Given the description of an element on the screen output the (x, y) to click on. 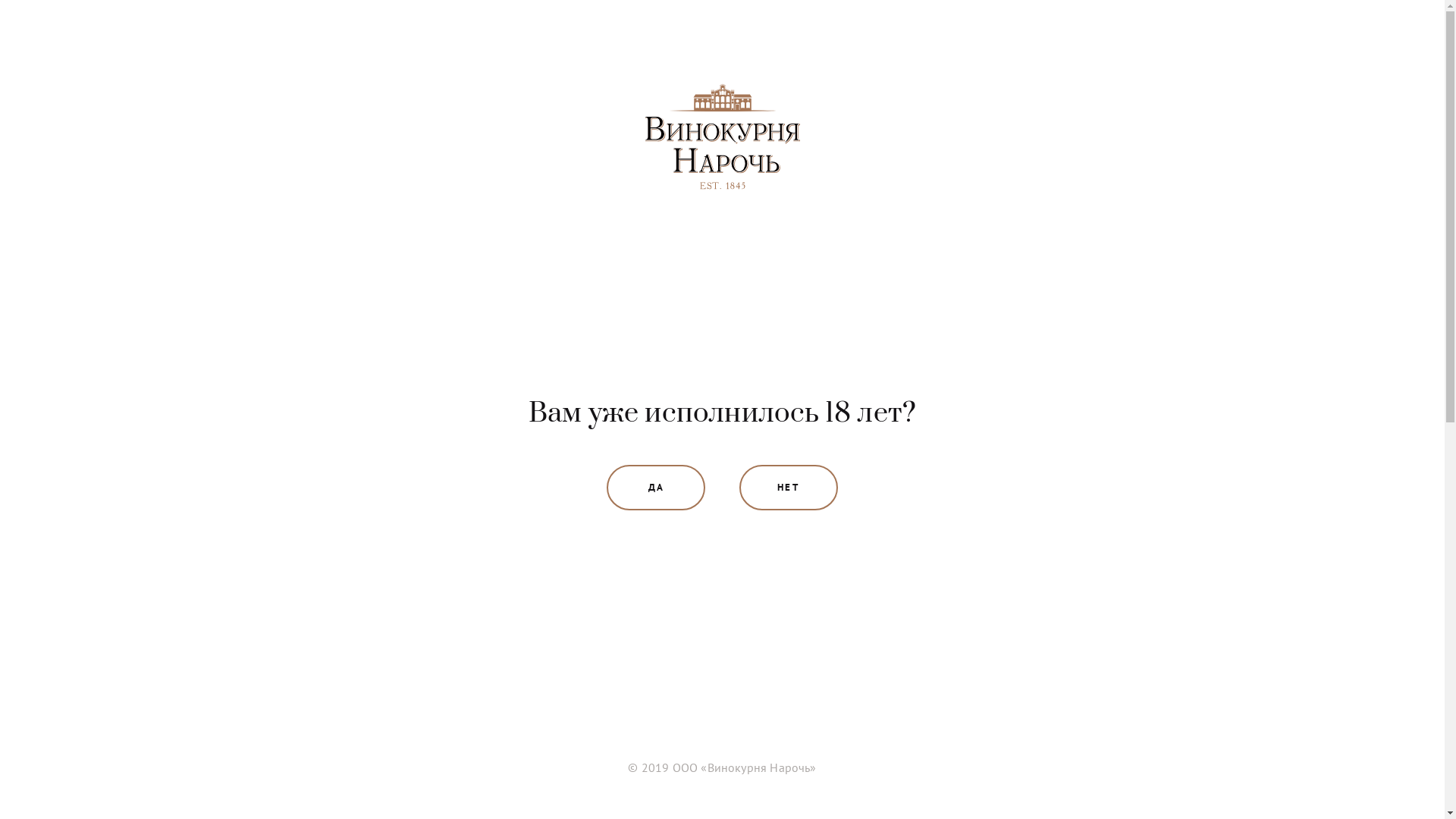
ENG Element type: text (1243, 49)
